Given the description of an element on the screen output the (x, y) to click on. 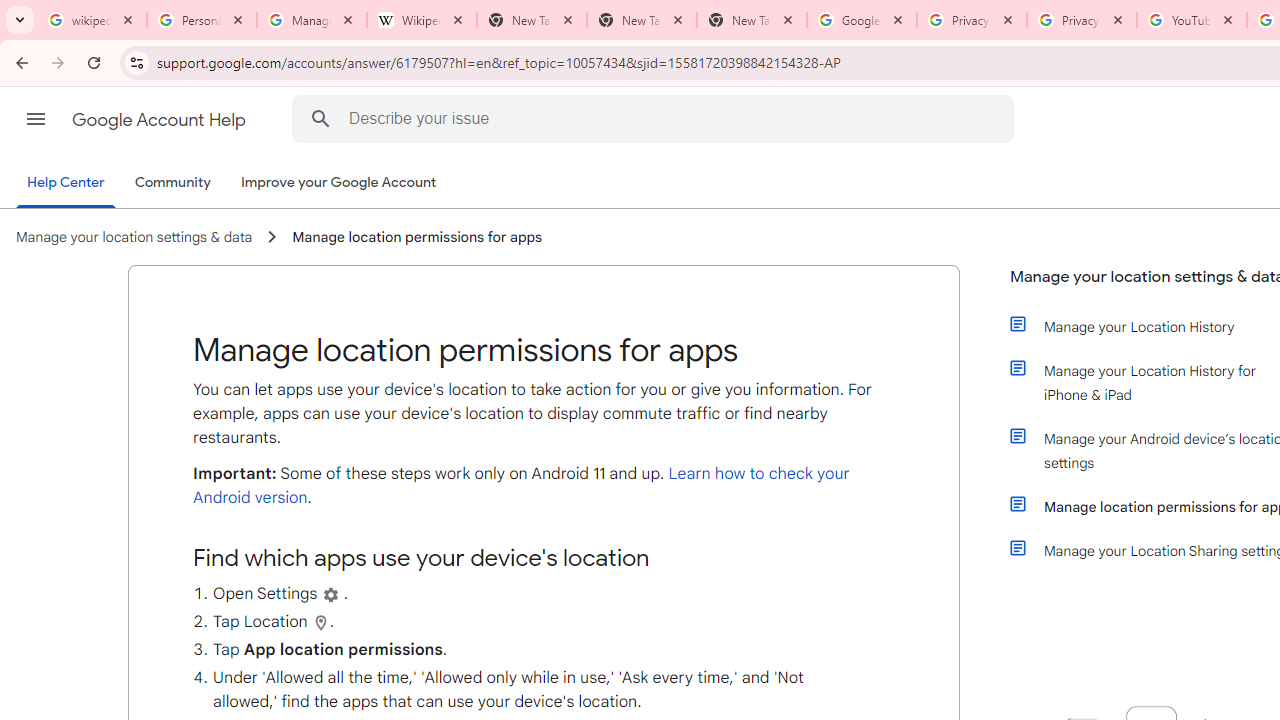
Manage your location settings & data (134, 237)
Personalization & Google Search results - Google Search Help (202, 20)
Wikipedia:Edit requests - Wikipedia (422, 20)
Google Drive: Sign-in (861, 20)
Search Help Center (320, 118)
Manage your Location History - Google Search Help (312, 20)
Learn how to check your Android version (521, 485)
